Given the description of an element on the screen output the (x, y) to click on. 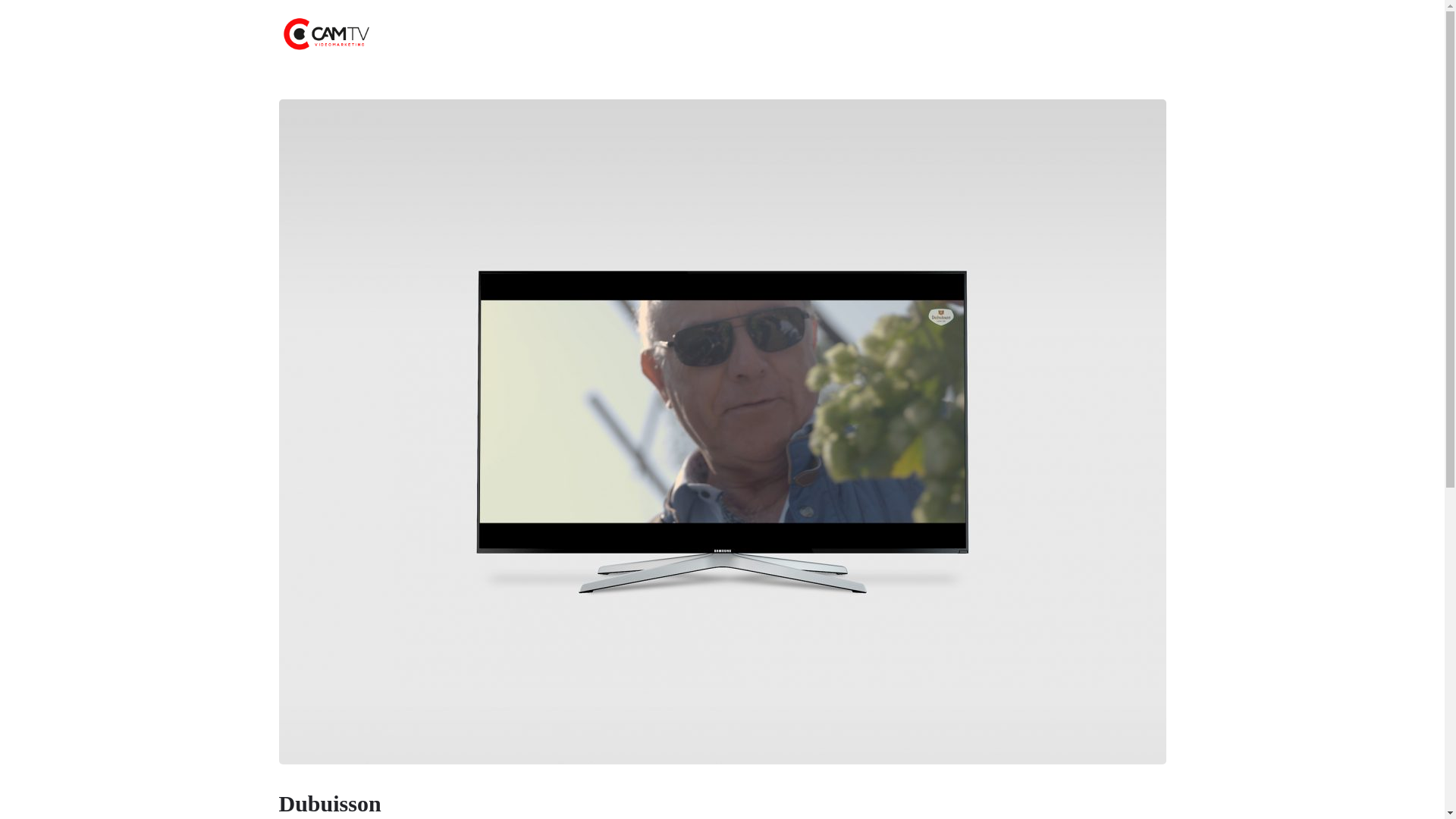
ABOUT US Element type: text (539, 33)
CONTACT Element type: text (905, 33)
GRAPHIC DESIGN Element type: text (828, 33)
SOCIALE MEDIA Element type: text (739, 33)
PROJECTS Element type: text (602, 33)
SERVICES Element type: text (664, 33)
